Given the description of an element on the screen output the (x, y) to click on. 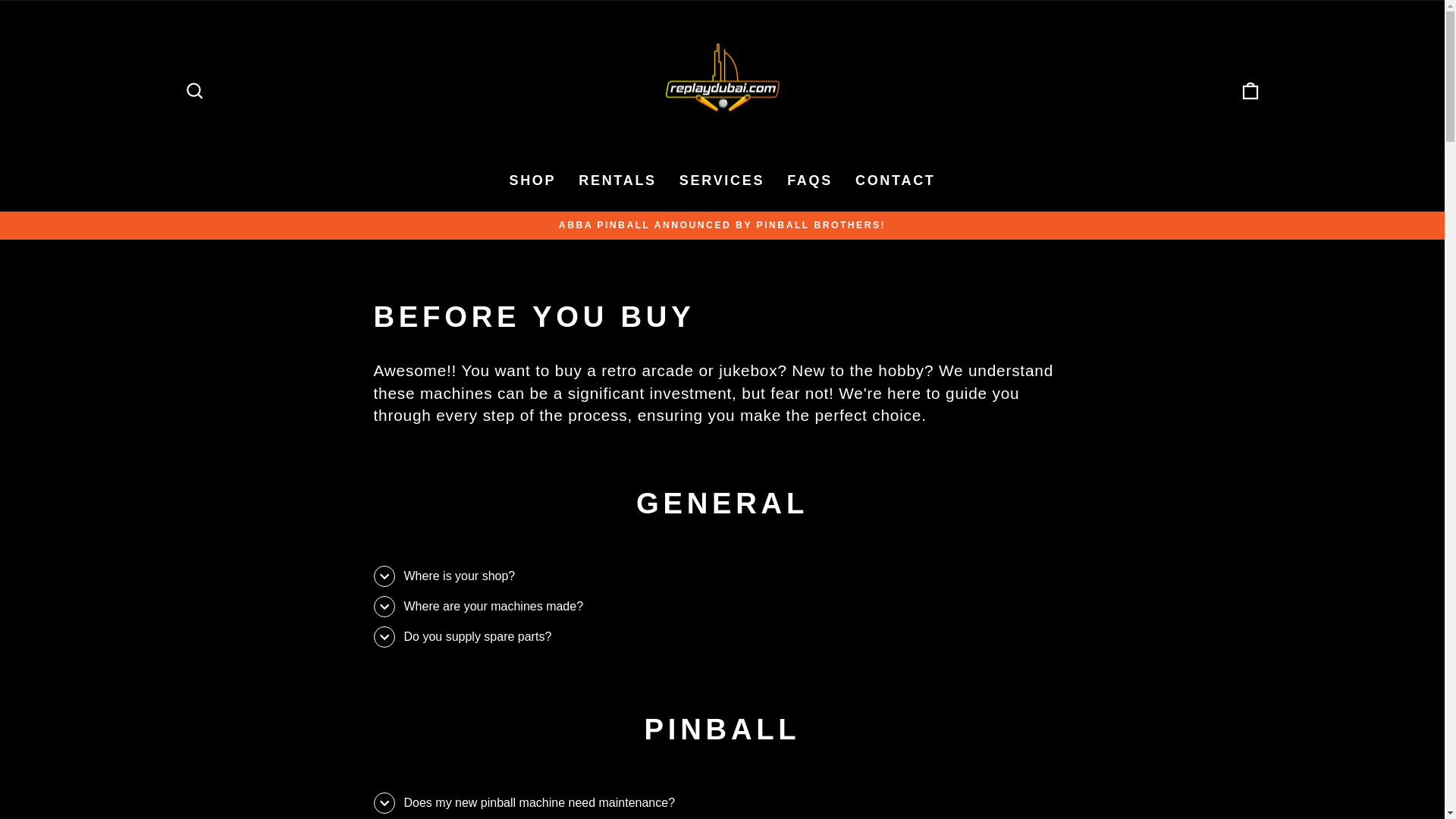
SHOP (532, 181)
CART (1249, 90)
SEARCH (194, 90)
